Given the description of an element on the screen output the (x, y) to click on. 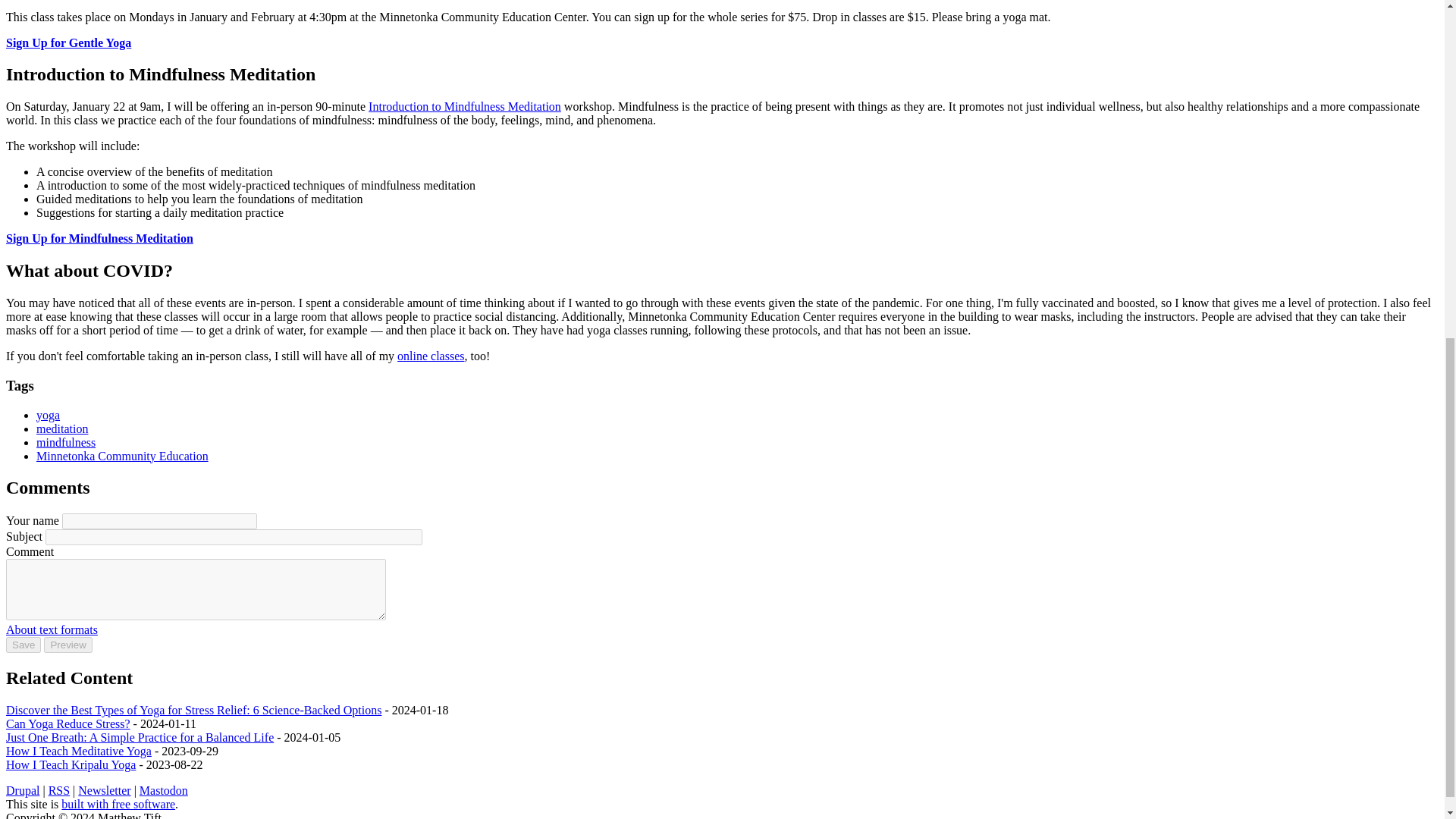
RSS (58, 789)
Preview (67, 644)
Save (22, 644)
About text formats (51, 629)
Just One Breath: A Simple Practice for a Balanced Life (139, 737)
Sign Up for Gentle Yoga (68, 42)
yoga (47, 414)
online classes (430, 355)
Sign Up for Mindfulness Meditation (99, 237)
Newsletter (104, 789)
